Given the description of an element on the screen output the (x, y) to click on. 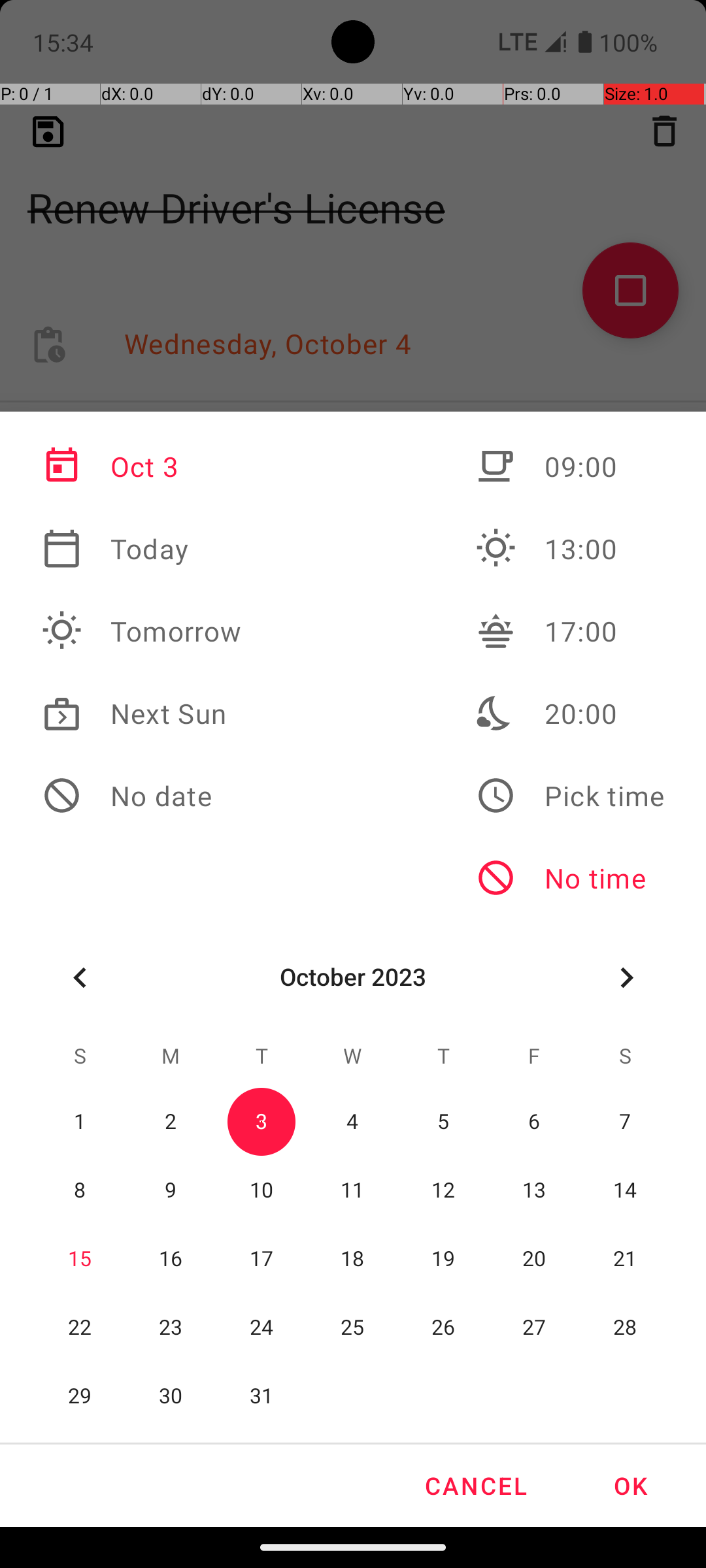
Oct 3 Element type: android.widget.CompoundButton (141, 466)
